Given the description of an element on the screen output the (x, y) to click on. 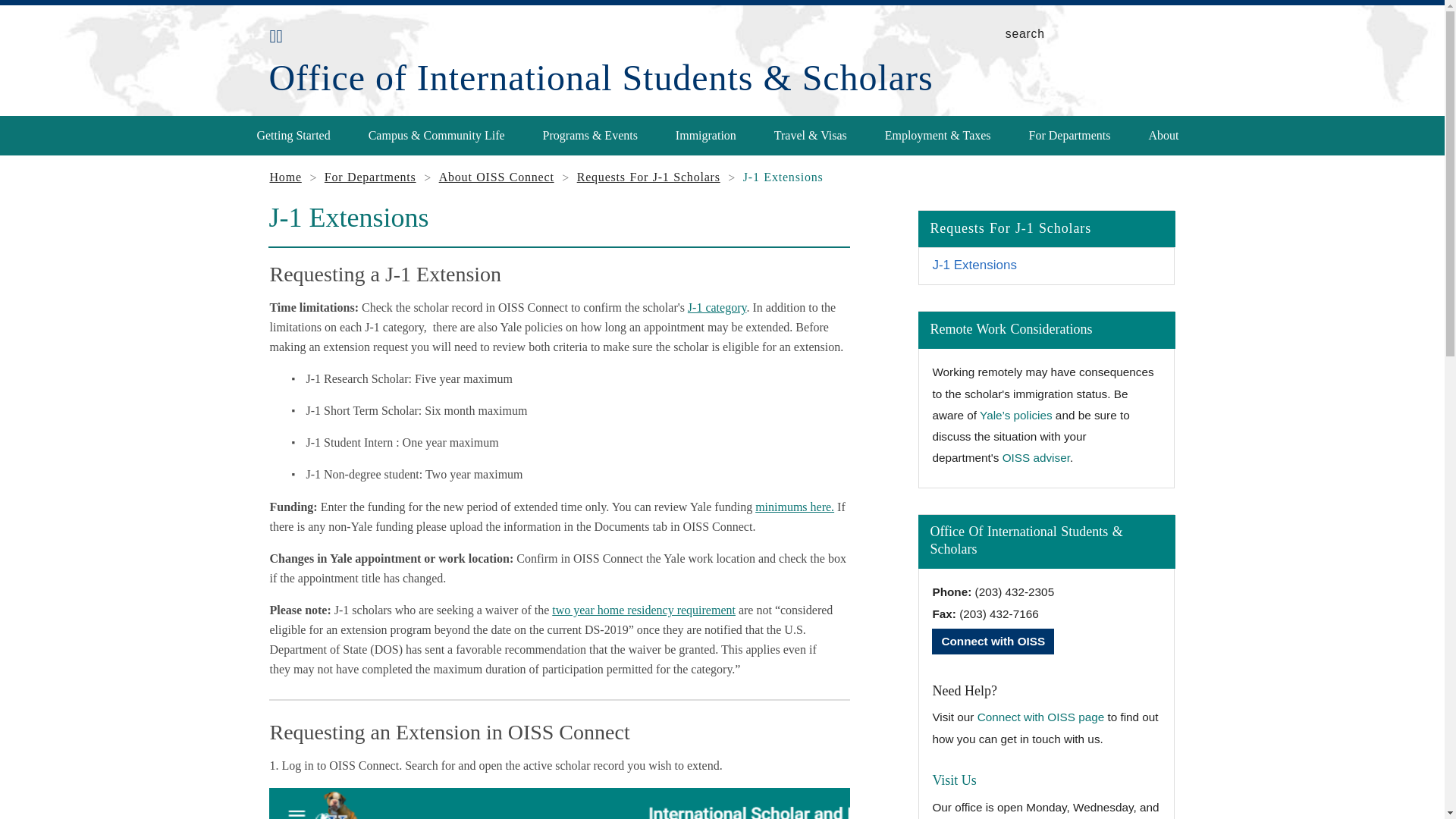
Home (600, 77)
Visit Us (953, 780)
OISS adviser (1036, 457)
J-1 category (716, 307)
Enter the terms you wish to search for. (1074, 34)
Requests For J-1 Scholars (1046, 228)
For Departments (370, 176)
Home (285, 176)
Requests For J-1 Scholars (648, 176)
For Departments (1068, 135)
Connect with OISS (992, 641)
two year home residency requirement (643, 609)
J-1 Extensions (1045, 265)
Connect with OISS page (1040, 716)
Skip to main content (586, 4)
